Given the description of an element on the screen output the (x, y) to click on. 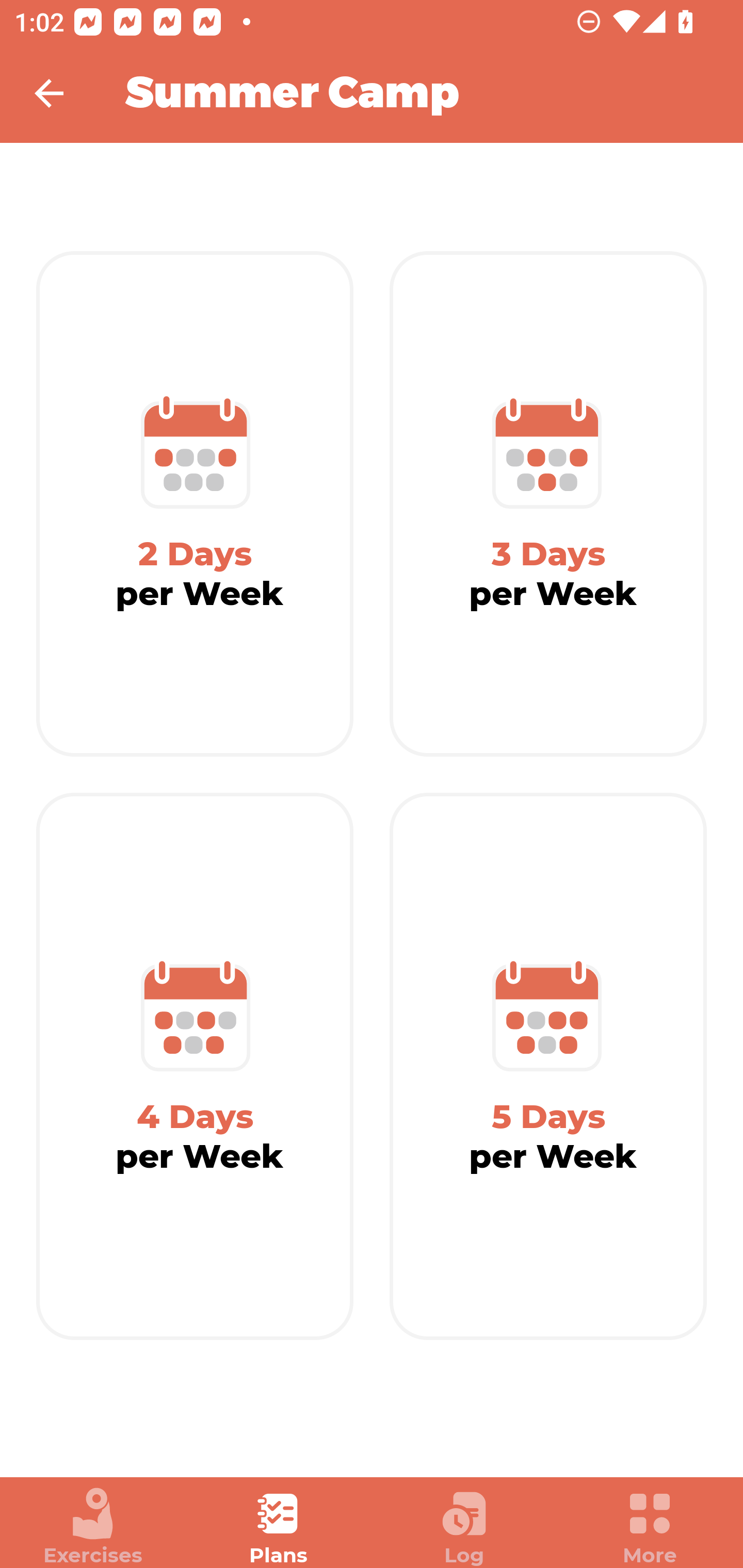
Back (62, 92)
2 Days
 per Week (194, 503)
3 Days
 per Week (547, 503)
4 Days
 per Week (194, 1066)
5 Days
 per Week (547, 1066)
Exercises (92, 1527)
Plans (278, 1527)
Log (464, 1527)
More (650, 1527)
